Given the description of an element on the screen output the (x, y) to click on. 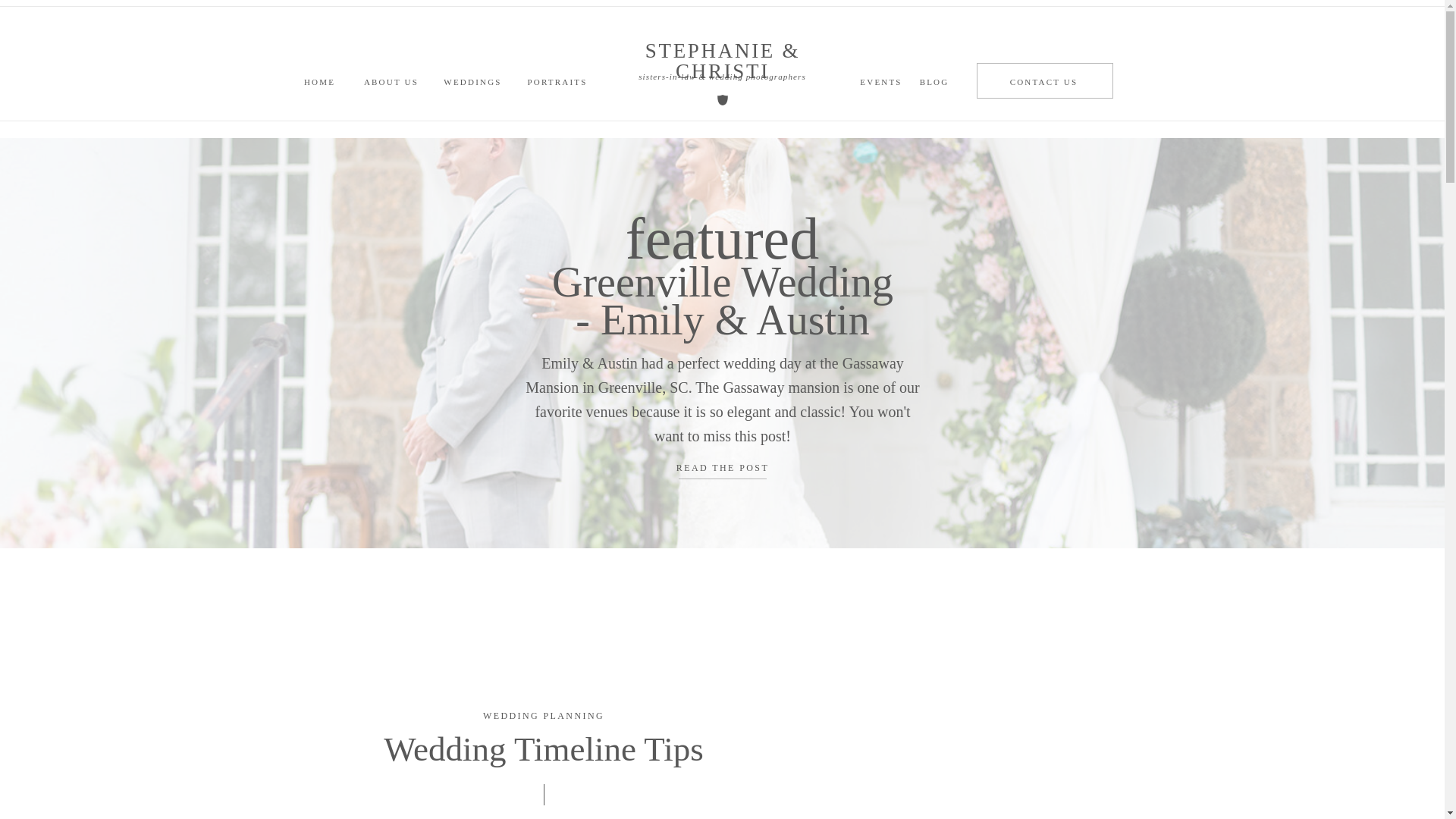
BLOG (933, 80)
PORTRAITS (556, 80)
HOME (319, 80)
CONTACT US (1042, 80)
READ THE POST (722, 468)
WEDDINGS (472, 80)
ABOUT US (390, 80)
EVENTS (879, 80)
